Given the description of an element on the screen output the (x, y) to click on. 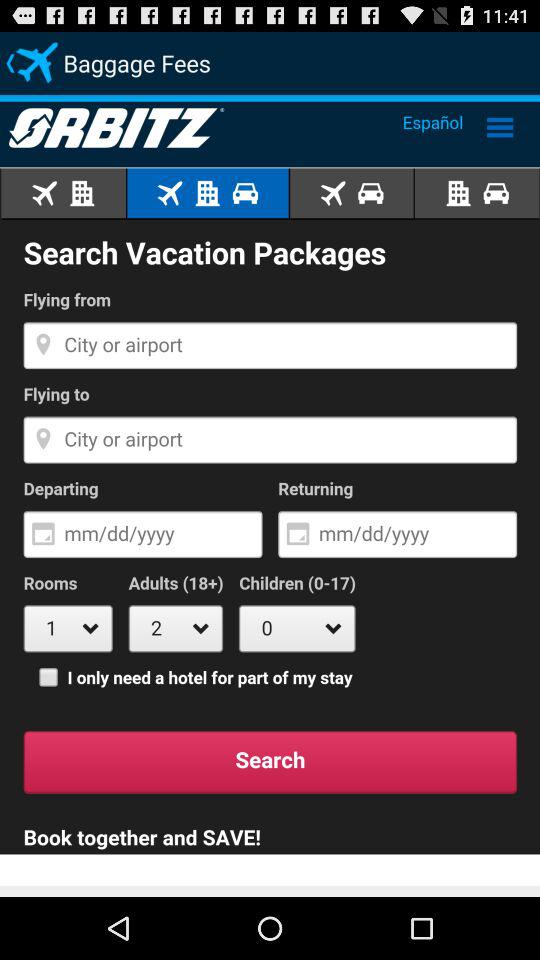
search for vacations (270, 495)
